Given the description of an element on the screen output the (x, y) to click on. 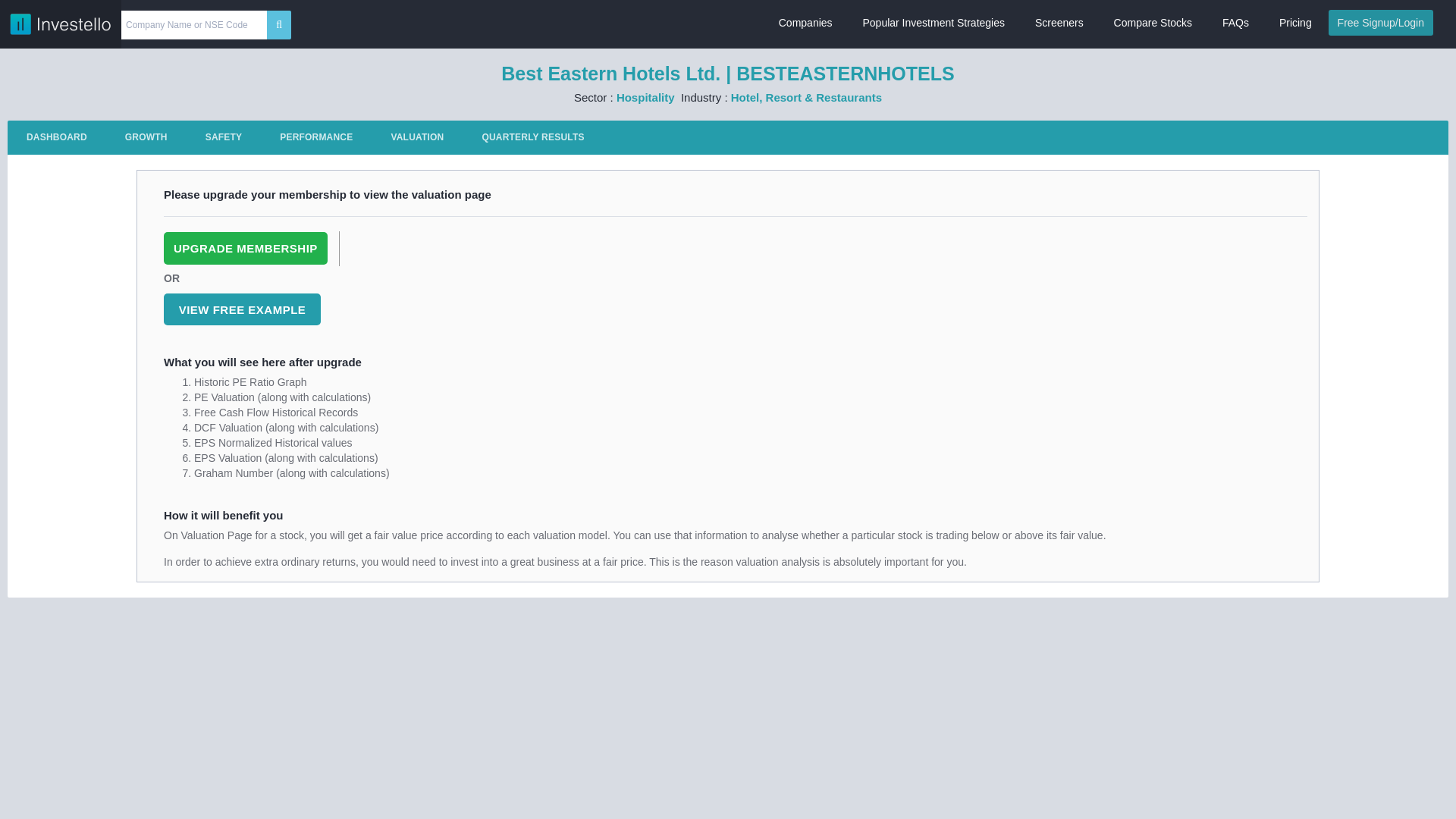
Screeners (1059, 23)
DASHBOARD (56, 137)
FAQs (1235, 23)
PERFORMANCE (315, 137)
VALUATION (417, 137)
Popular Investment Strategies (932, 23)
QUARTERLY RESULTS (532, 137)
SAFETY (224, 137)
VIEW FREE EXAMPLE (241, 309)
Compare Stocks (1152, 23)
